Given the description of an element on the screen output the (x, y) to click on. 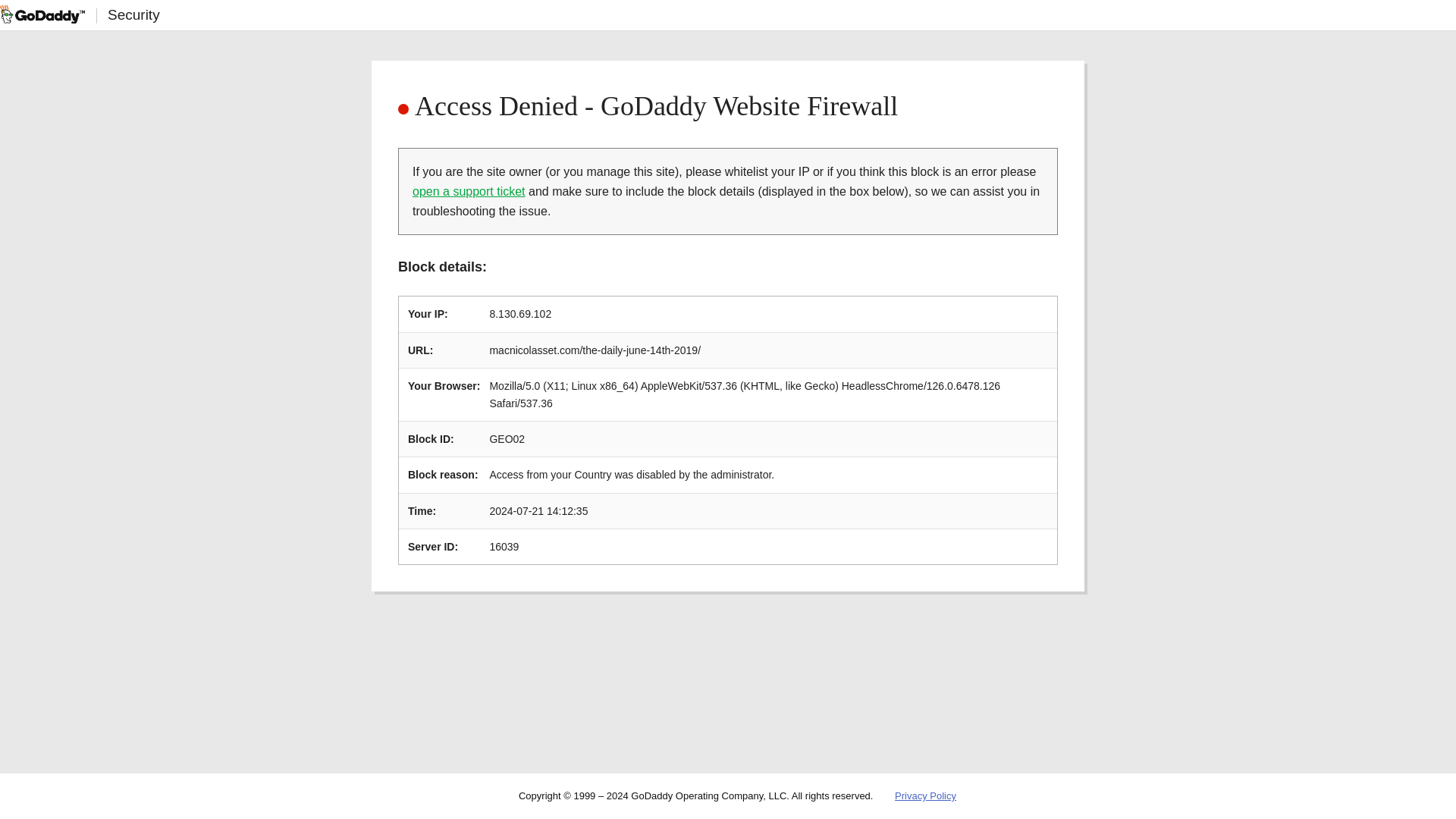
open a support ticket (468, 191)
Privacy Policy (925, 795)
